Given the description of an element on the screen output the (x, y) to click on. 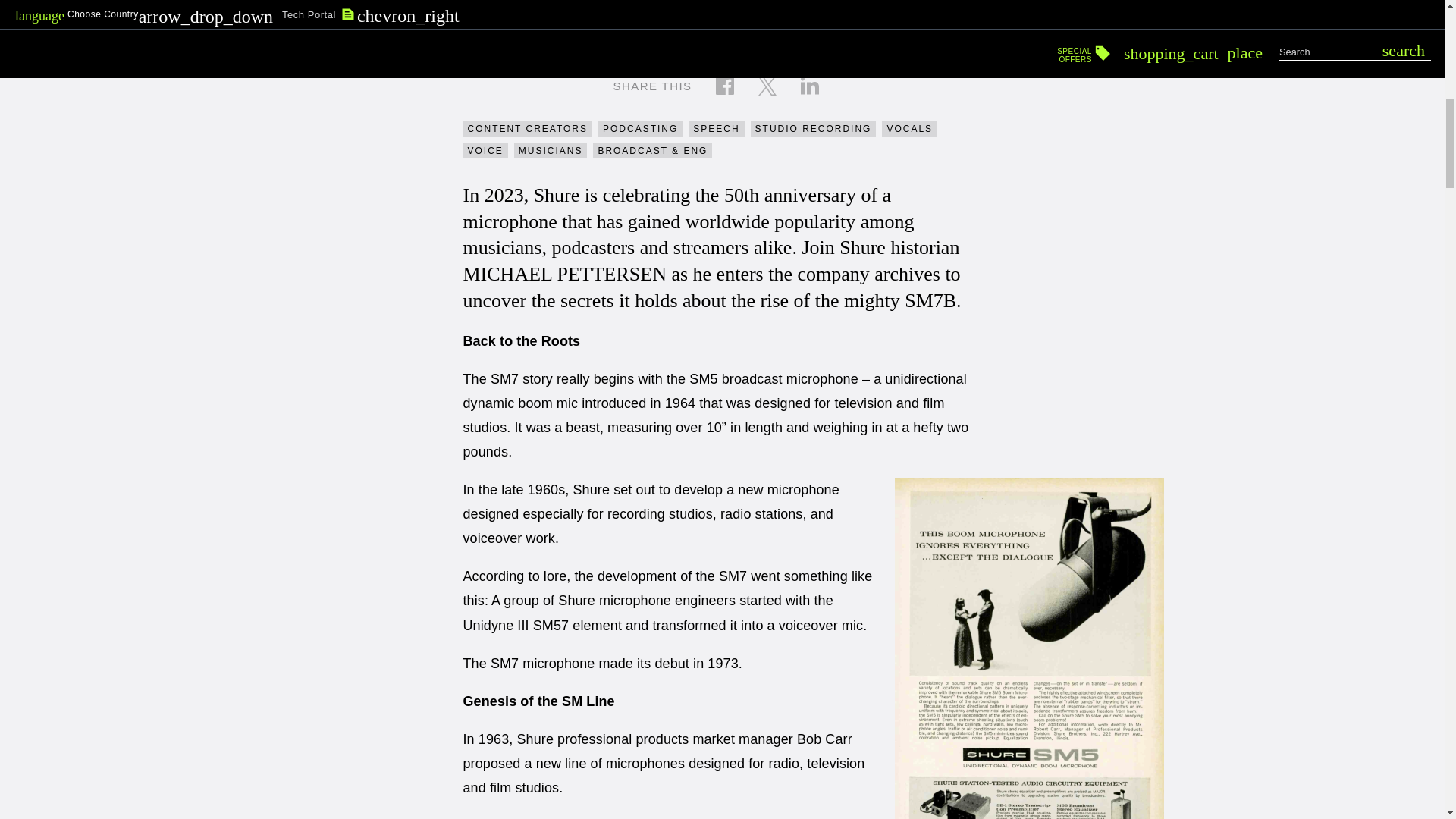
CONTENT CREATORS (527, 129)
SPEECH (716, 129)
PODCASTING (640, 129)
STUDIO RECORDING (813, 129)
